Given the description of an element on the screen output the (x, y) to click on. 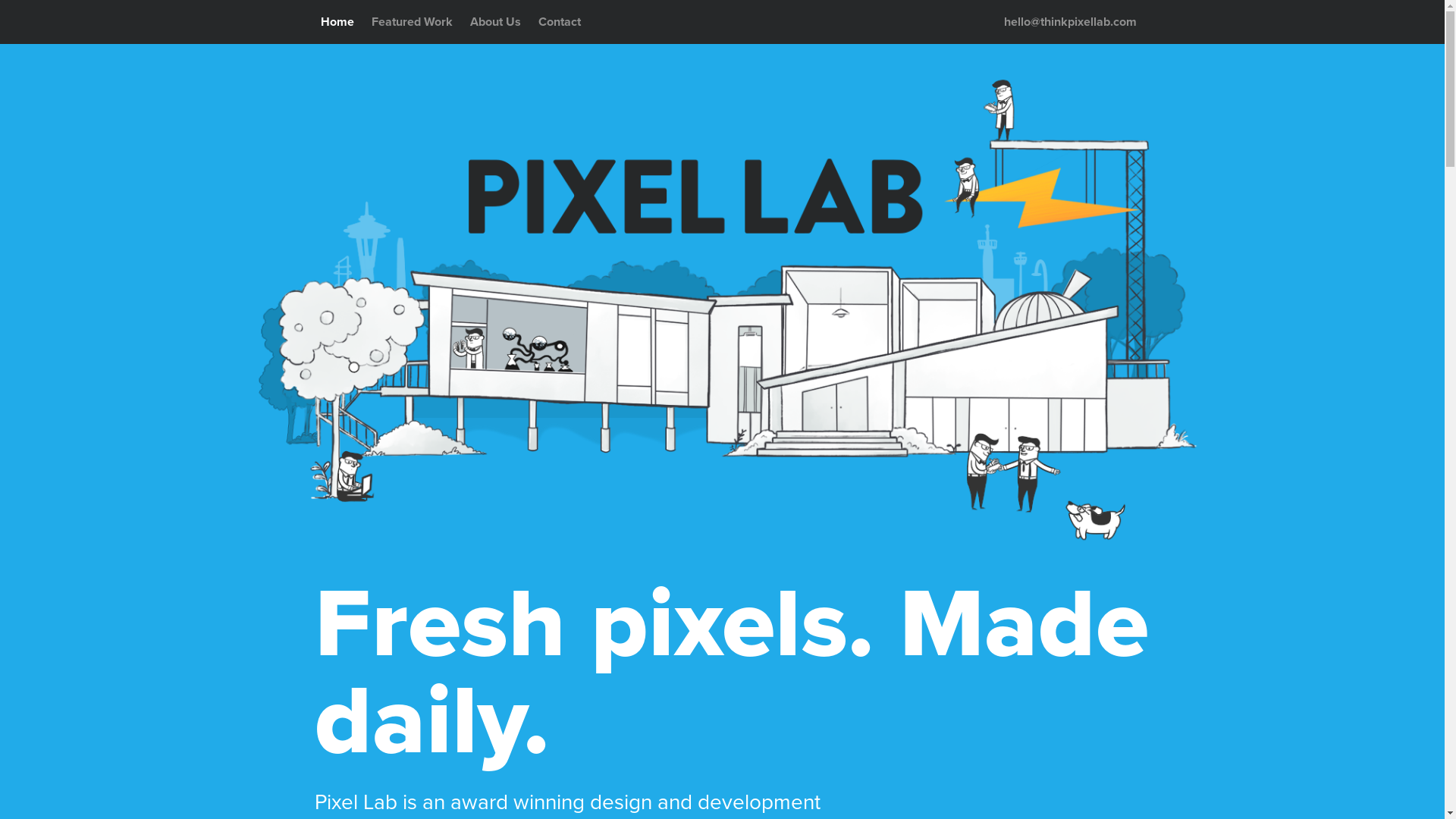
Featured Work Element type: text (411, 21)
hello@thinkpixellab.com Element type: text (1069, 21)
Contact Element type: text (559, 21)
About Us Element type: text (495, 21)
Home Element type: text (336, 21)
